Given the description of an element on the screen output the (x, y) to click on. 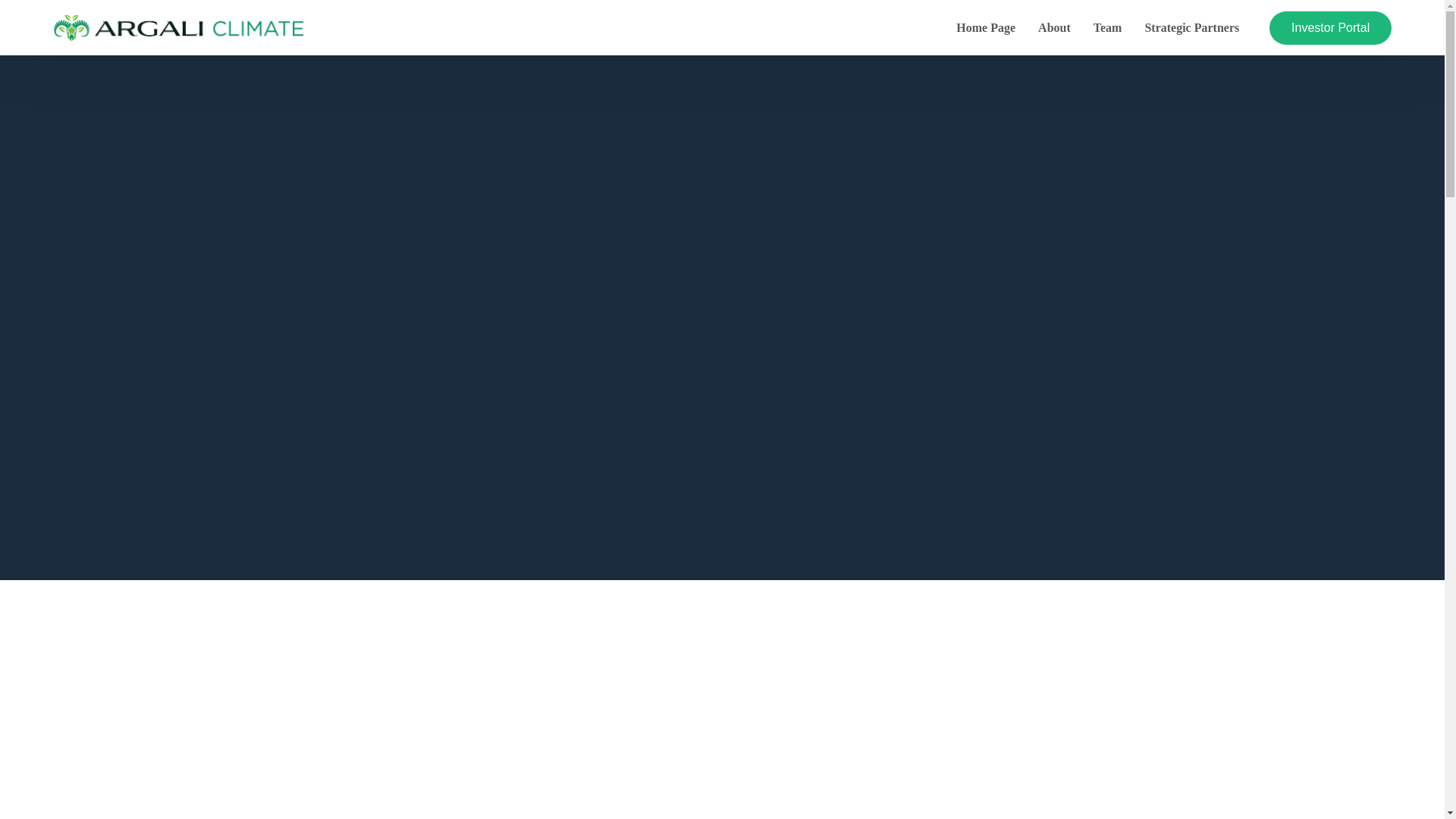
Strategic Partners (1191, 27)
Team (1107, 27)
Investor Portal (1330, 28)
About (1053, 27)
Home Page (985, 27)
